Given the description of an element on the screen output the (x, y) to click on. 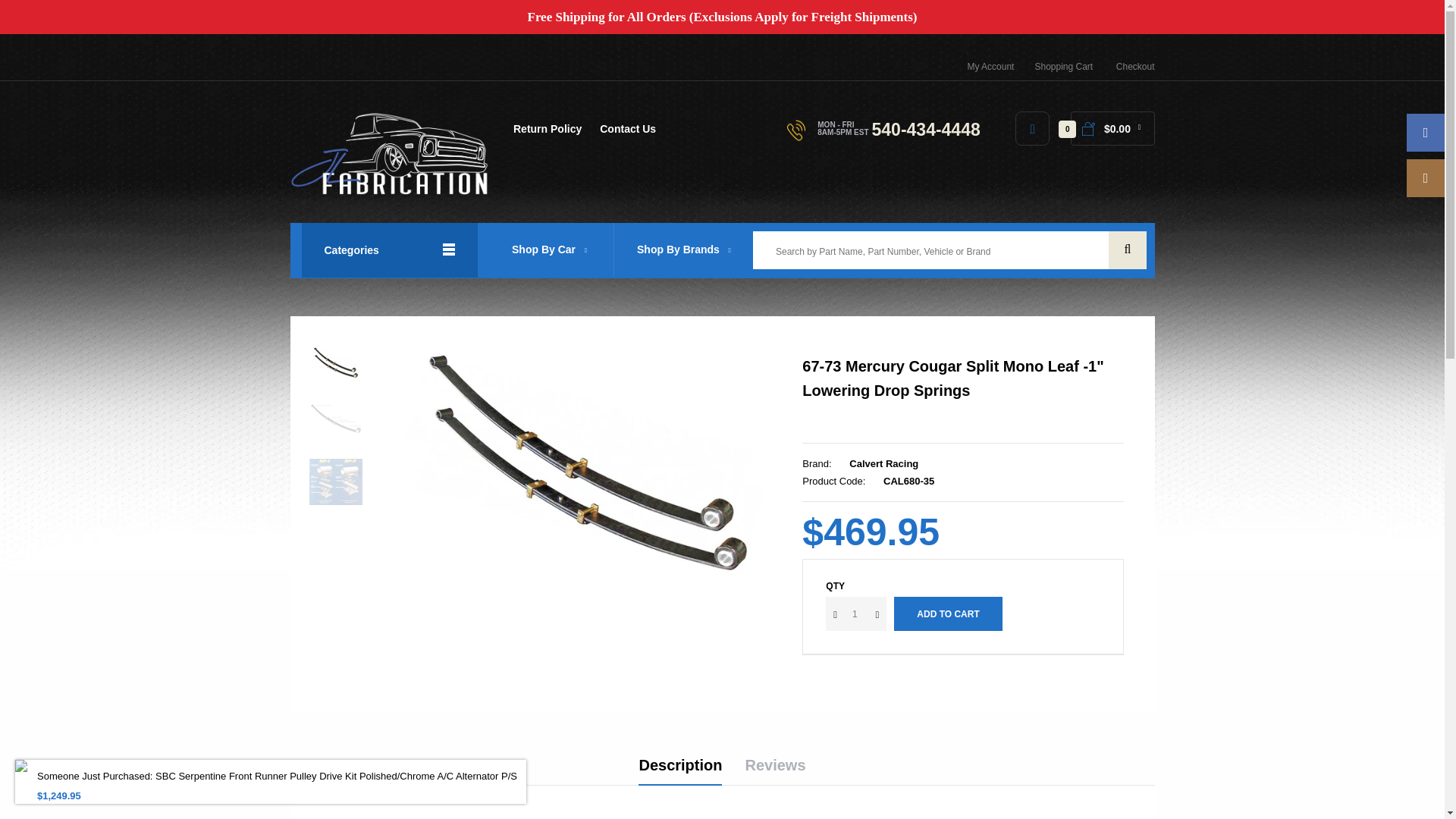
Checkout (1135, 66)
Add to cart (947, 613)
My Account (989, 66)
1 (855, 613)
Calvert Racing (883, 463)
Shopping Cart (1063, 66)
Contact Us (628, 135)
Return Policy (547, 135)
JLFabrication (389, 191)
JLFabrication (389, 153)
